Given the description of an element on the screen output the (x, y) to click on. 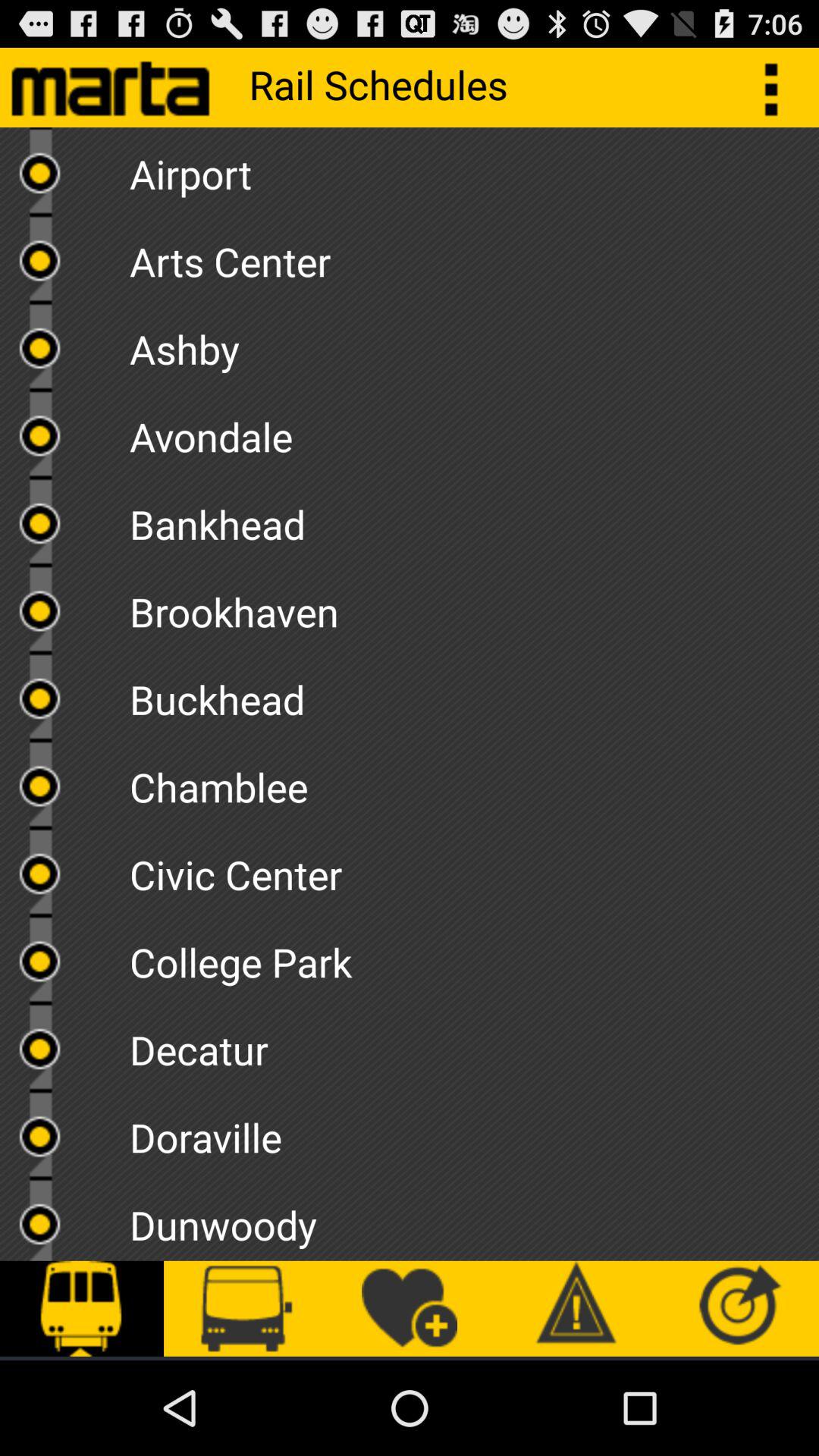
tap icon above the dunwoody item (474, 1131)
